Given the description of an element on the screen output the (x, y) to click on. 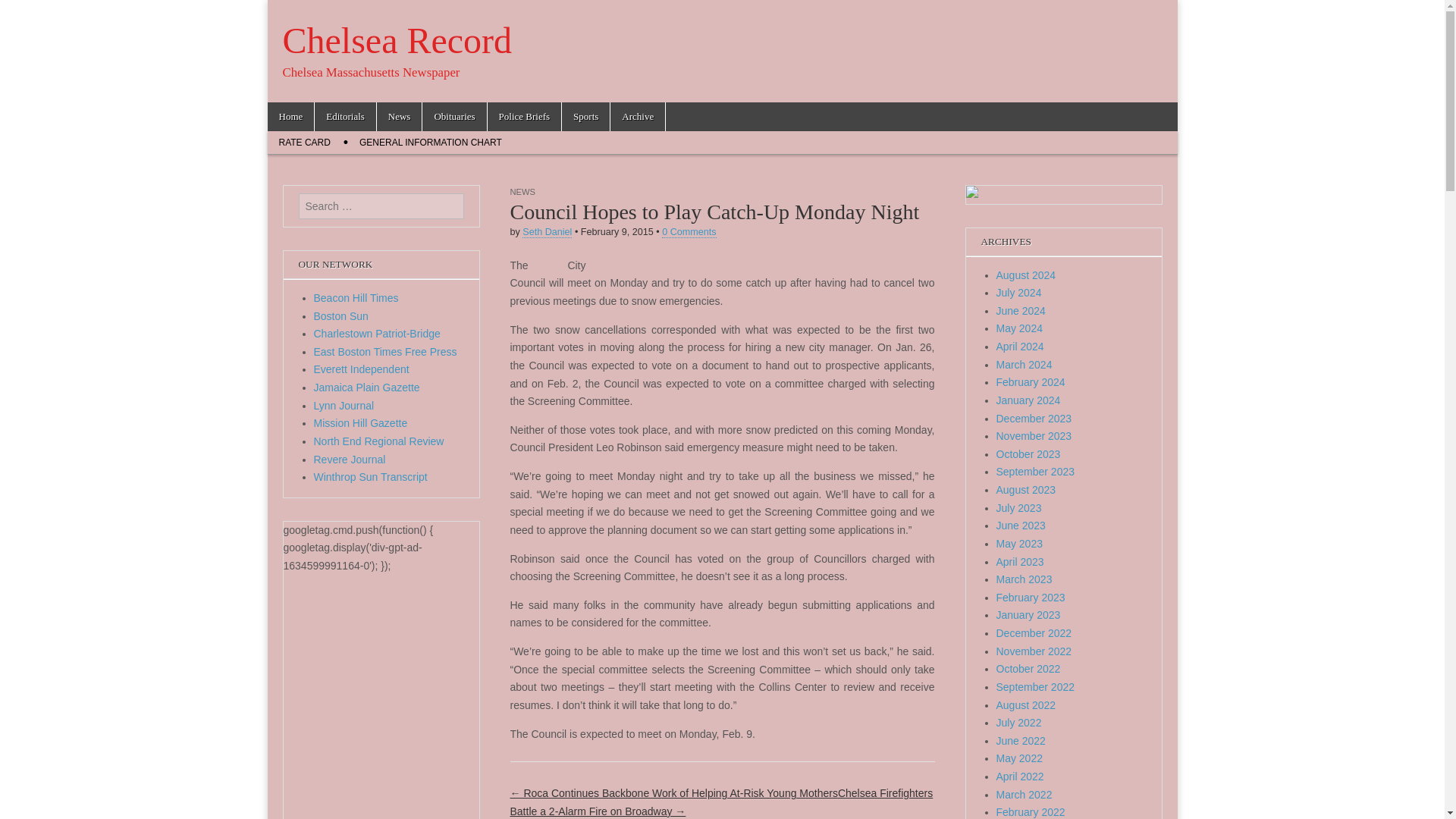
Lynn Journal (344, 405)
April 2024 (1019, 346)
RATE CARD (303, 142)
Winthrop Sun Transcript (371, 476)
Home (290, 116)
Seth Daniel (547, 232)
East Boston Times Free Press (385, 351)
March 2024 (1023, 364)
Boston Sun (341, 316)
Beacon Hill Times (356, 297)
